Given the description of an element on the screen output the (x, y) to click on. 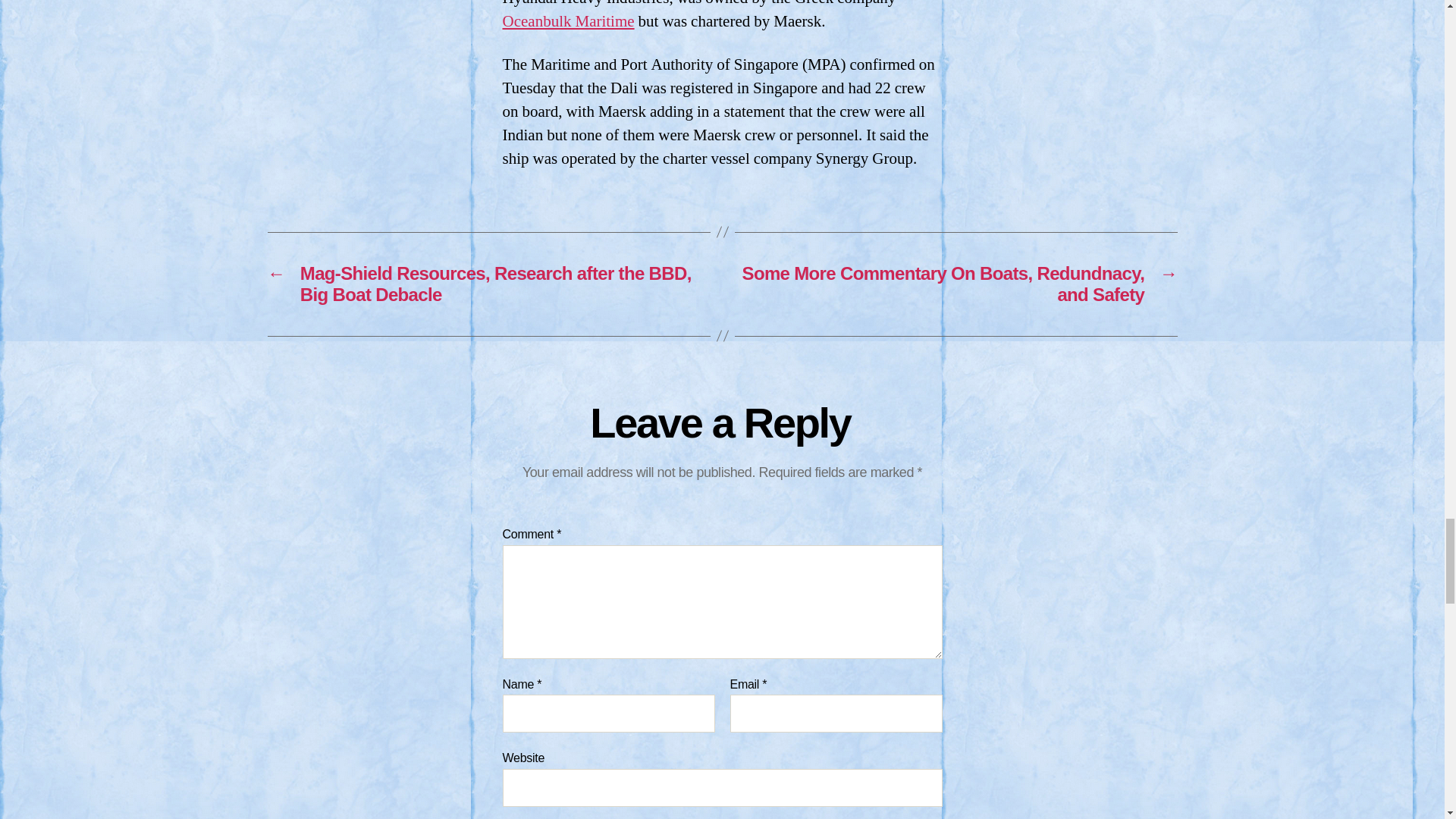
Oceanbulk Maritime (567, 21)
